Given the description of an element on the screen output the (x, y) to click on. 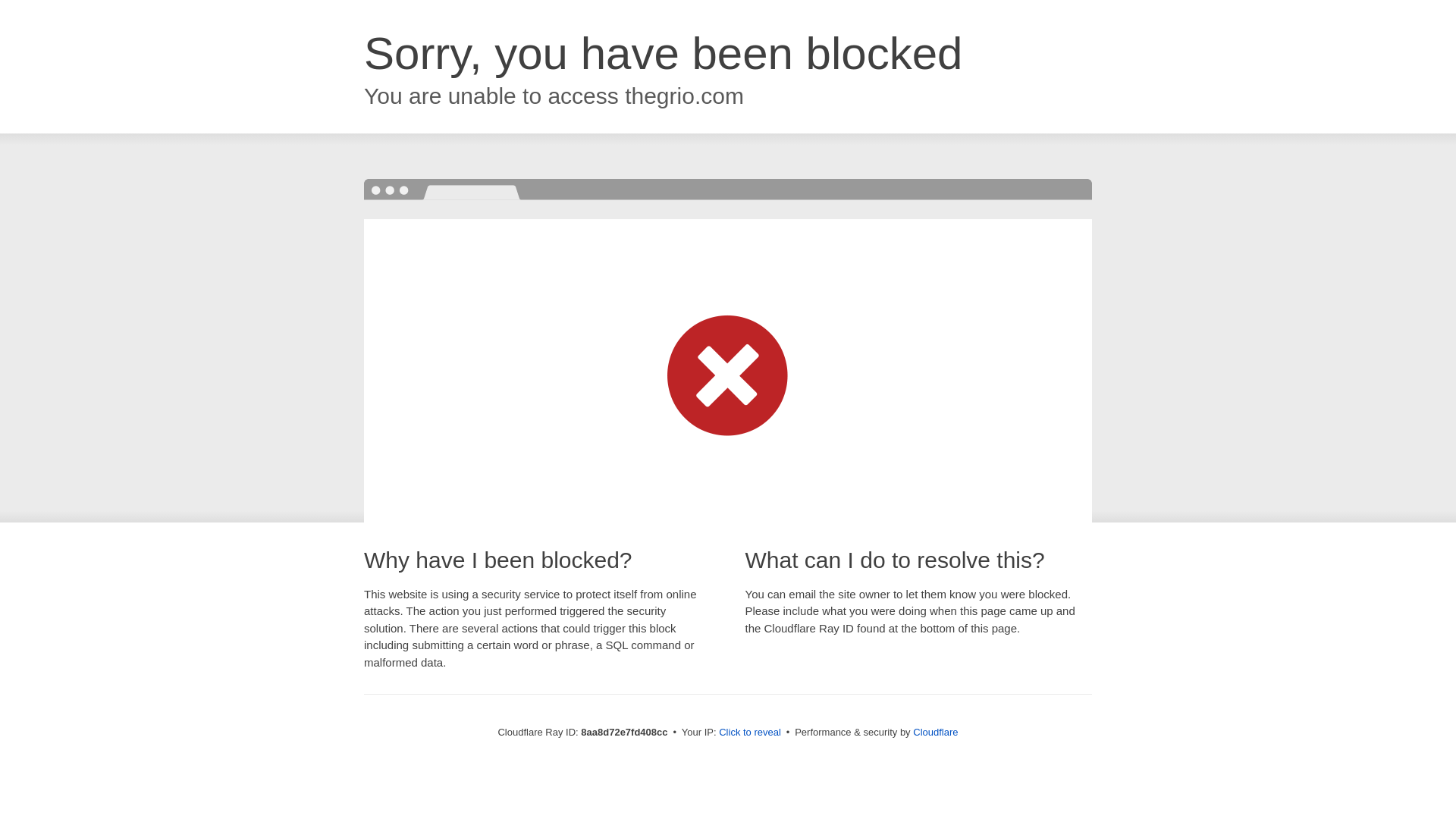
Click to reveal (749, 732)
Cloudflare (935, 731)
